Given the description of an element on the screen output the (x, y) to click on. 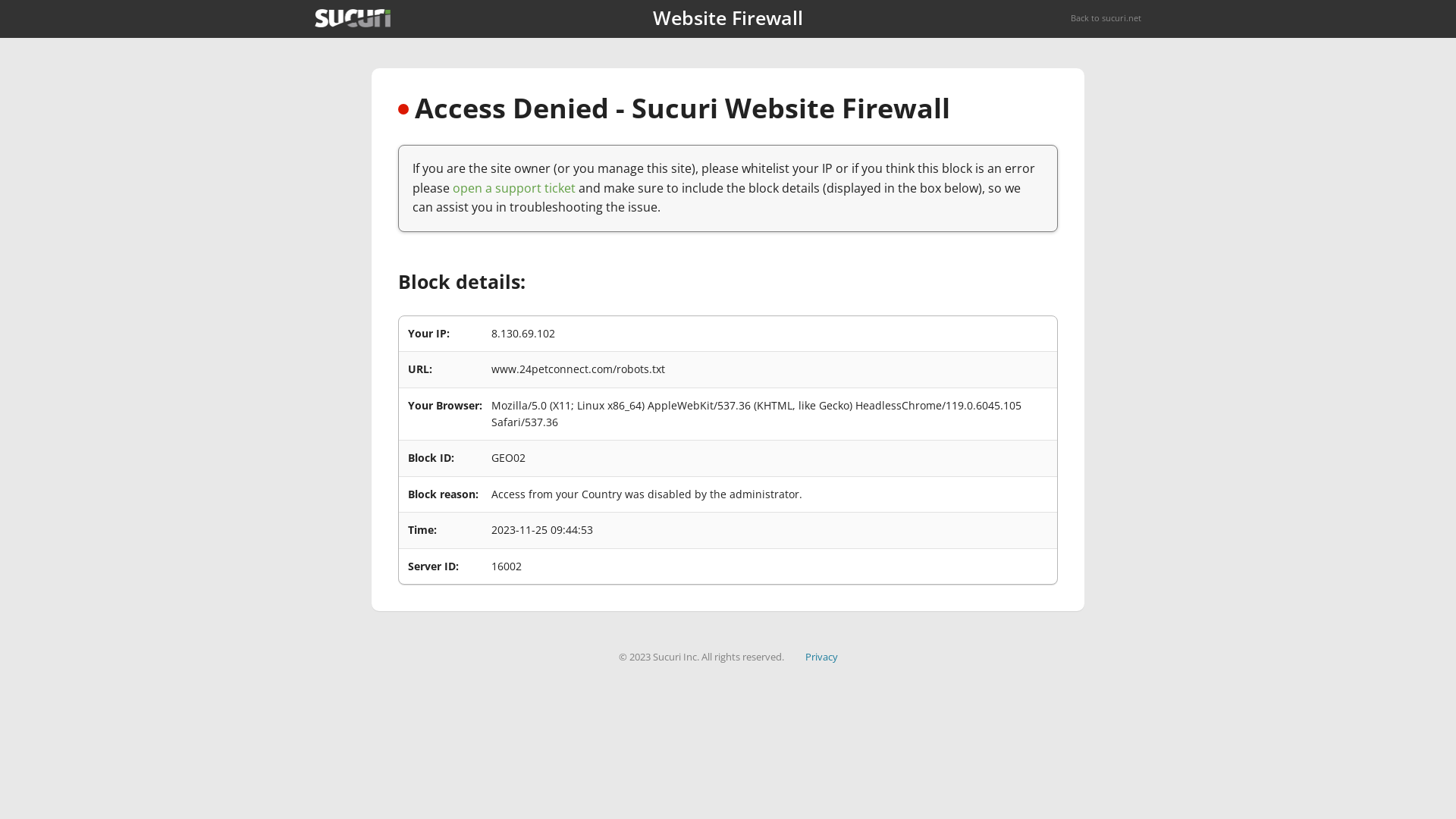
Back to sucuri.net Element type: text (1105, 18)
Privacy Element type: text (821, 656)
open a support ticket Element type: text (513, 187)
